Given the description of an element on the screen output the (x, y) to click on. 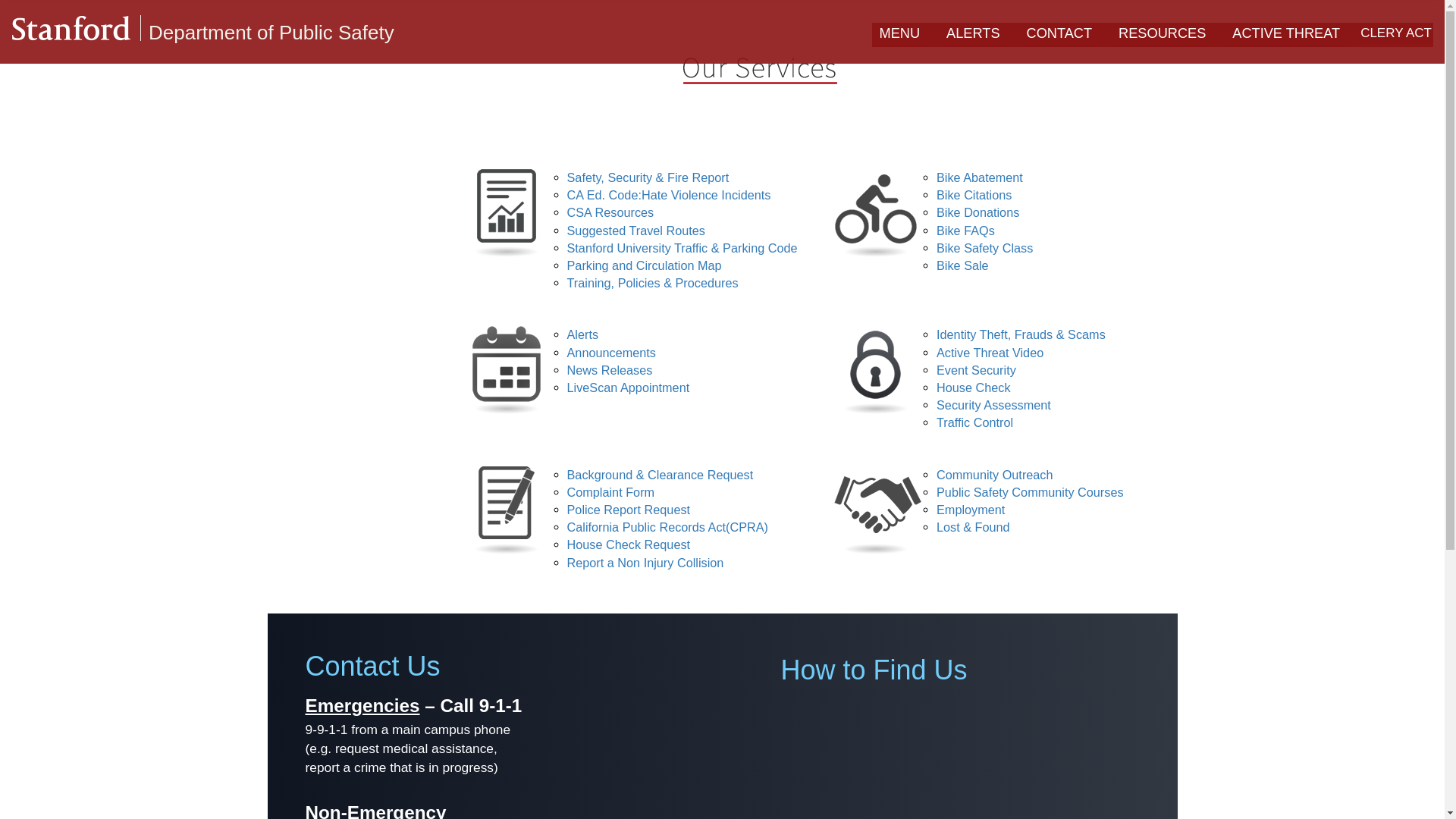
MENU (900, 34)
News Releases (609, 370)
Suggested Travel Routes (635, 230)
RESOURCES (1161, 34)
CONTACT (1059, 34)
Bike Safety Class (984, 247)
CSA Resources (610, 212)
LiveScan Appointment (628, 386)
Bike FAQs (965, 230)
Active Threat Video (989, 352)
Alerts (582, 334)
ALERTS (973, 34)
CA Ed. Code:Hate Violence Incidents (669, 194)
Parking and Circulation Map (644, 264)
Department of Public Safety (271, 32)
